Given the description of an element on the screen output the (x, y) to click on. 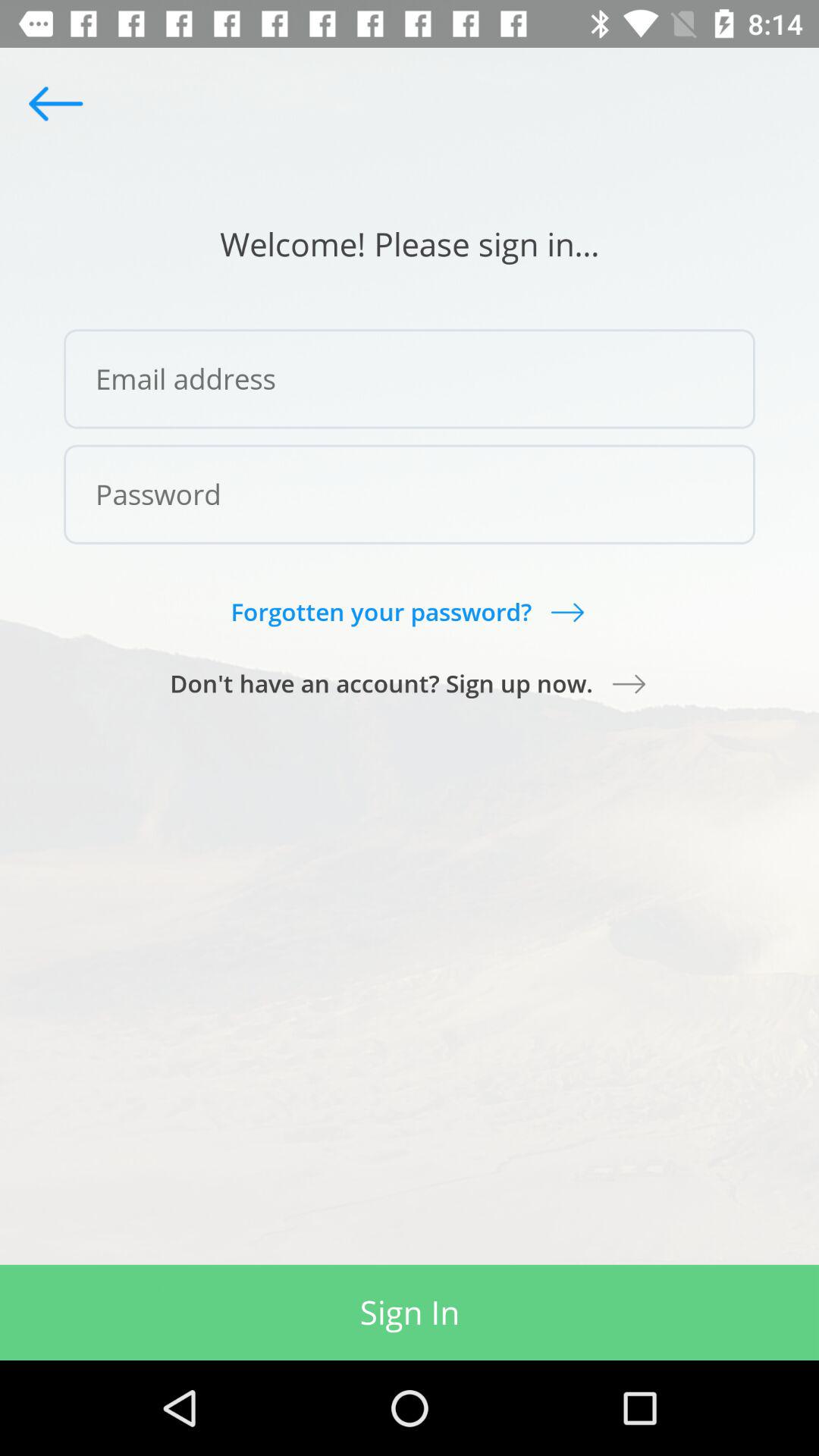
tap icon above forgotten your password? (409, 494)
